Given the description of an element on the screen output the (x, y) to click on. 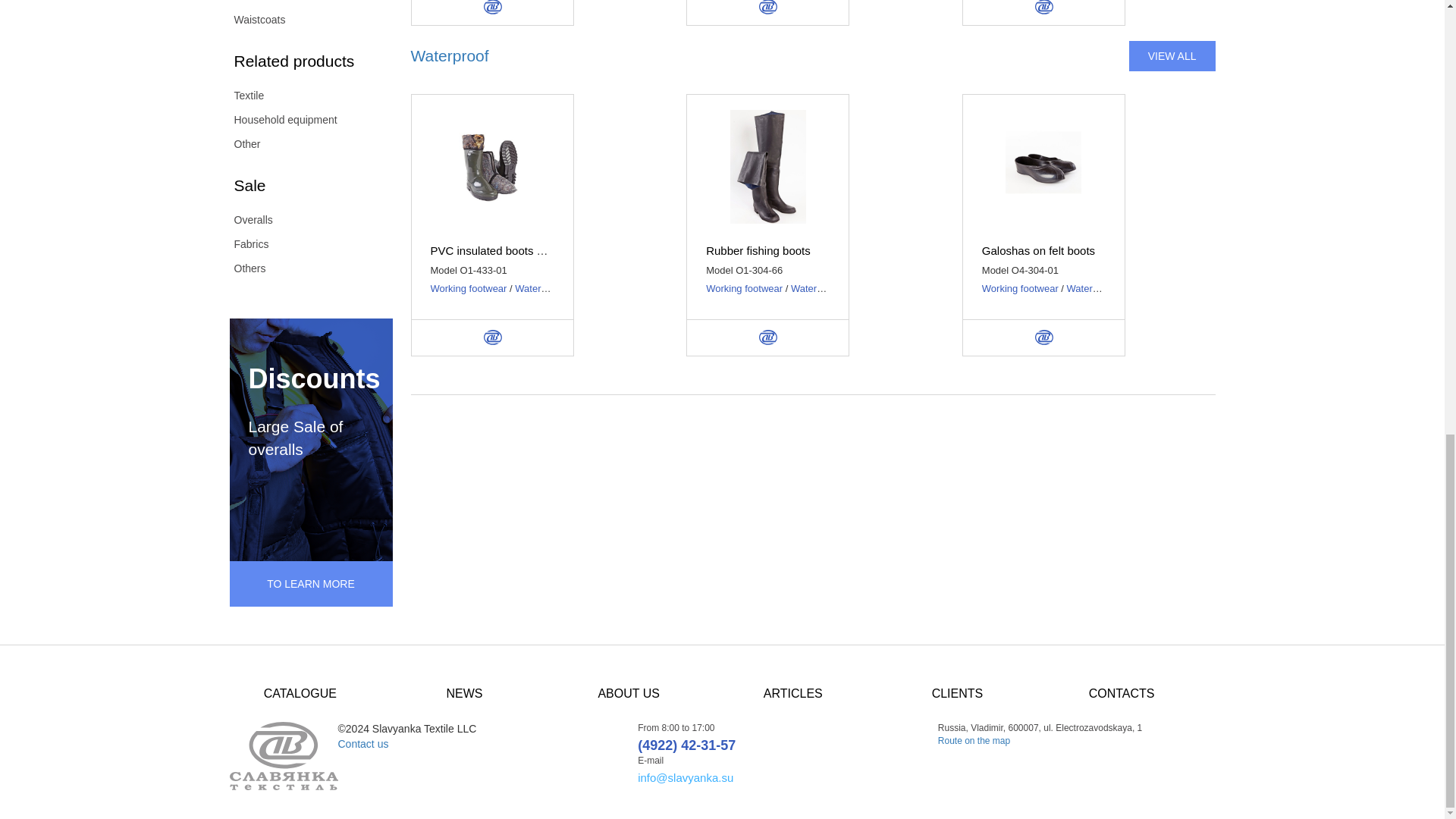
Winter clothes (300, 3)
Waistcoats (300, 19)
Household equipment (300, 119)
Textile (300, 95)
Related products (300, 60)
